Given the description of an element on the screen output the (x, y) to click on. 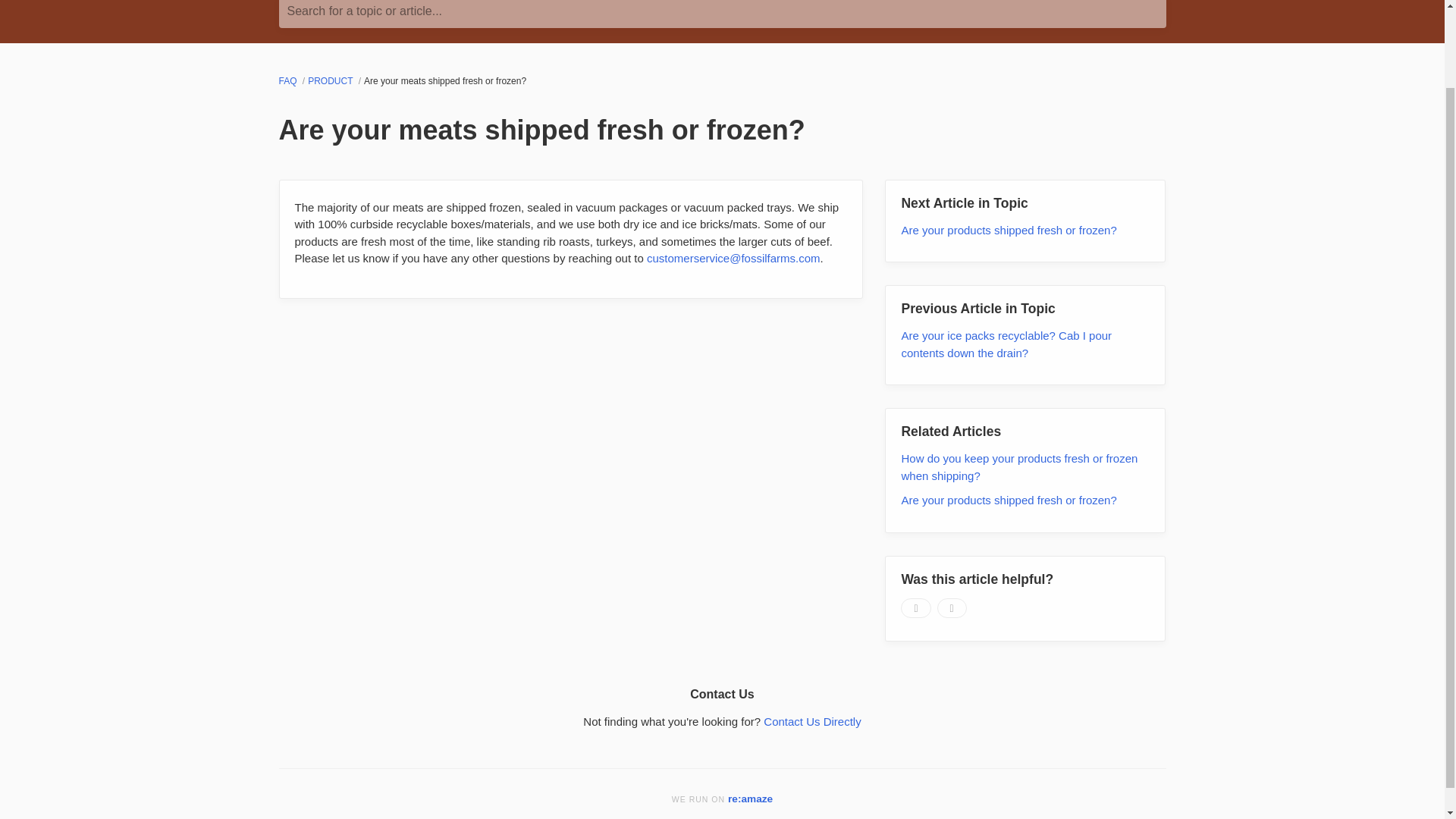
Are your products shipped fresh or frozen? (1008, 229)
Are your products shipped fresh or frozen? (1008, 499)
re:amaze (750, 798)
FAQ (289, 81)
PRODUCT (331, 81)
Contact Us Directly (811, 721)
How do you keep your products fresh or frozen when shipping? (1019, 467)
